Given the description of an element on the screen output the (x, y) to click on. 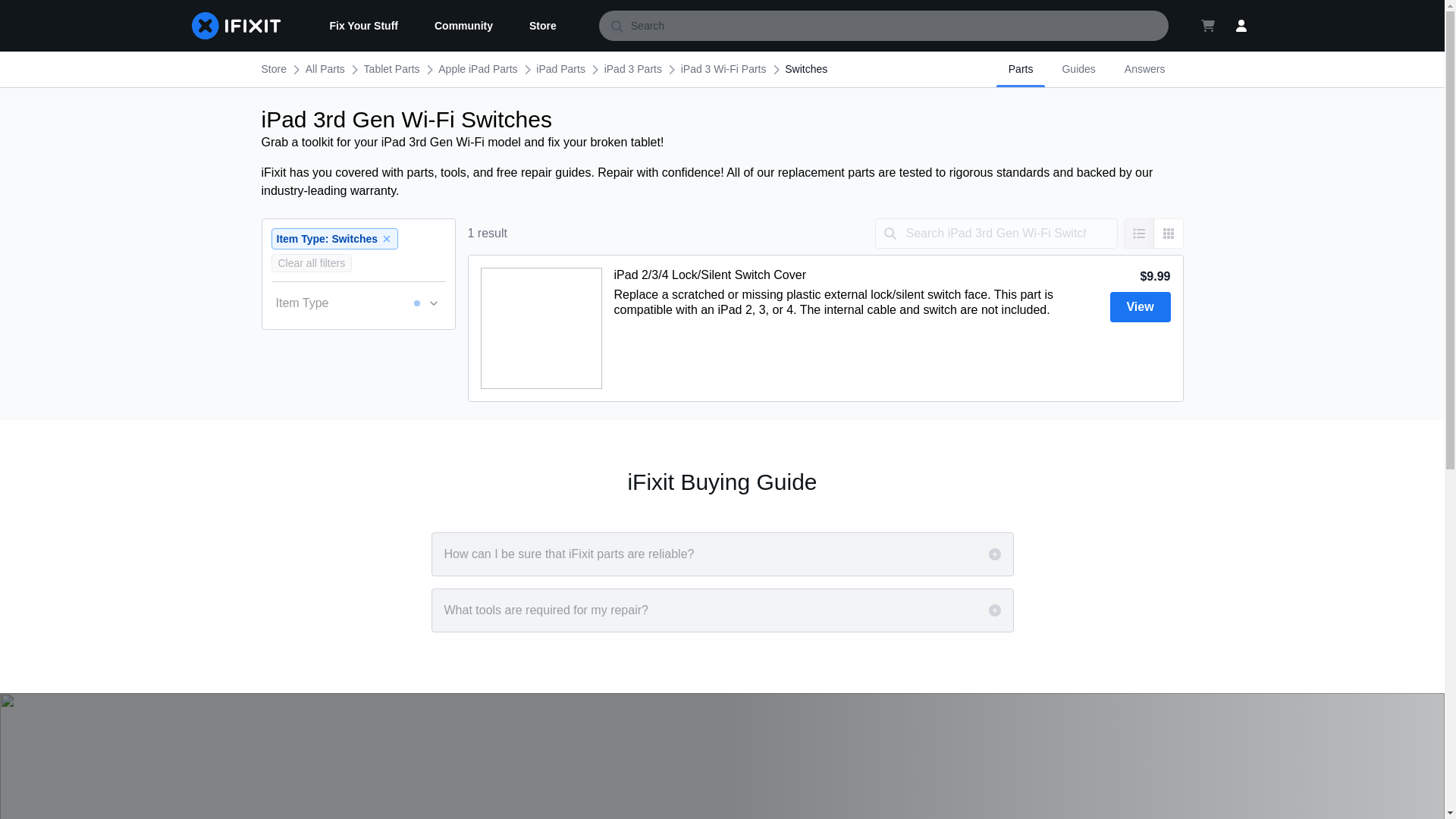
Apple iPad Parts (477, 68)
Community (463, 25)
Clear all filters (311, 262)
iPad 3 Wi-Fi Parts (724, 68)
Fix Your Stuff (362, 25)
iPad 3 Parts (633, 68)
iPad Parts (560, 68)
Item Type (357, 303)
Guides (1077, 68)
Store (543, 25)
Answers (1144, 68)
Store (272, 68)
Tablet Parts (392, 68)
All Parts (325, 68)
